Given the description of an element on the screen output the (x, y) to click on. 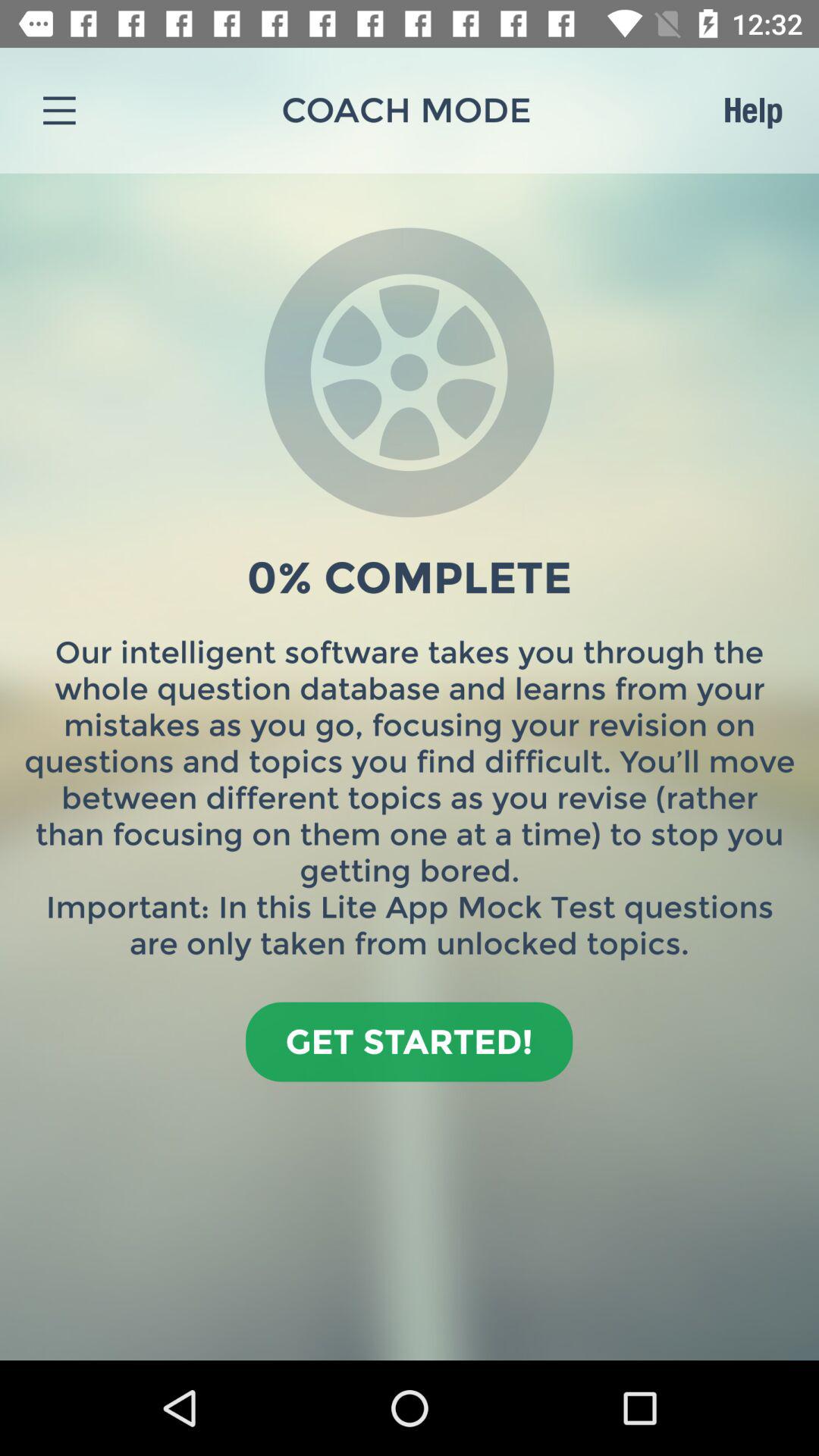
launch the icon below our intelligent software icon (408, 1041)
